Given the description of an element on the screen output the (x, y) to click on. 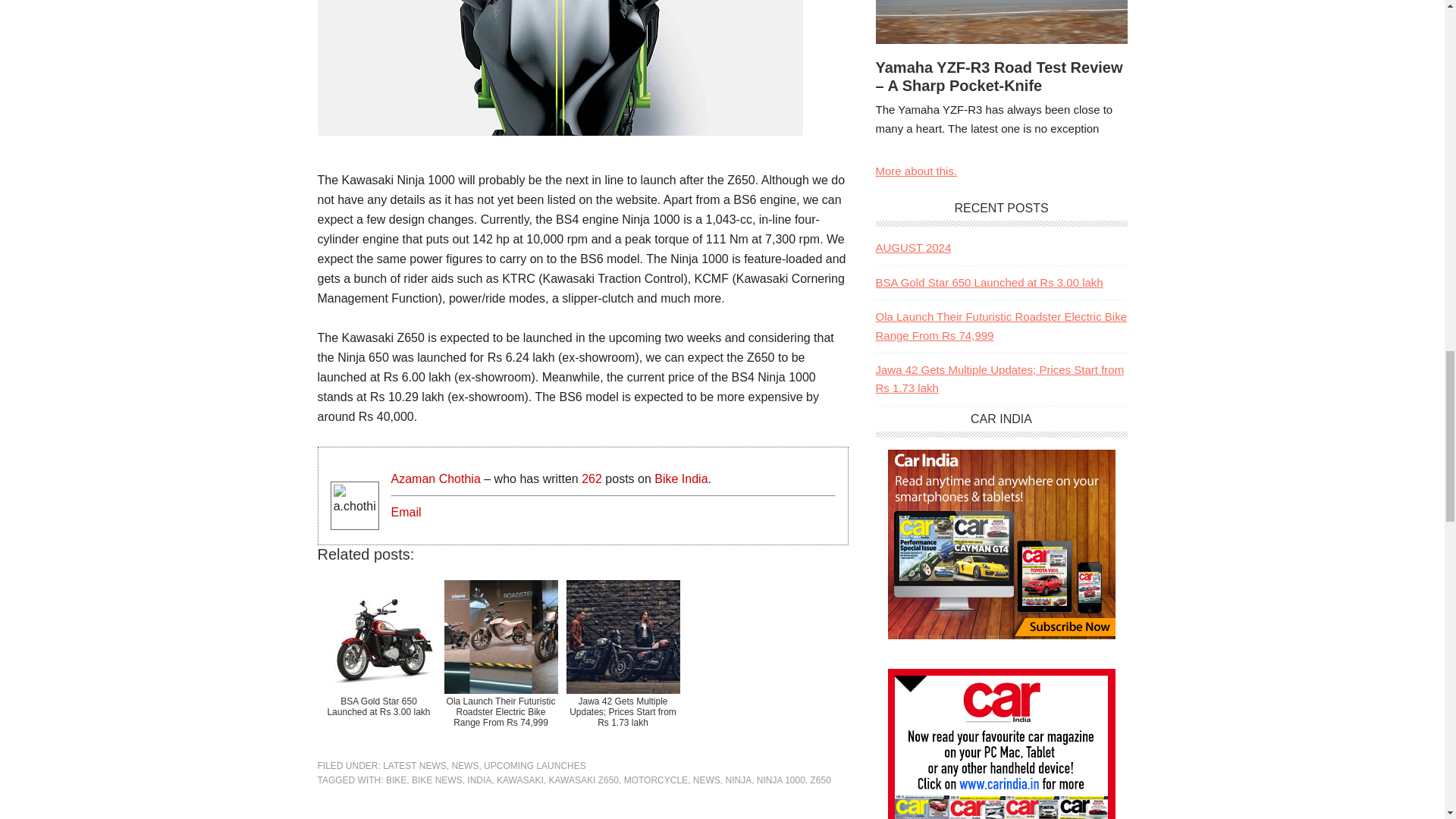
INDIA (479, 779)
BIKE NEWS (437, 779)
Azaman Chothia (435, 479)
262 (591, 479)
UPCOMING LAUNCHES (534, 765)
KAWASAKI (519, 779)
BIKE (395, 779)
LATEST NEWS (414, 765)
Send an Email to the Author of this Post (406, 512)
NEWS (465, 765)
